Given the description of an element on the screen output the (x, y) to click on. 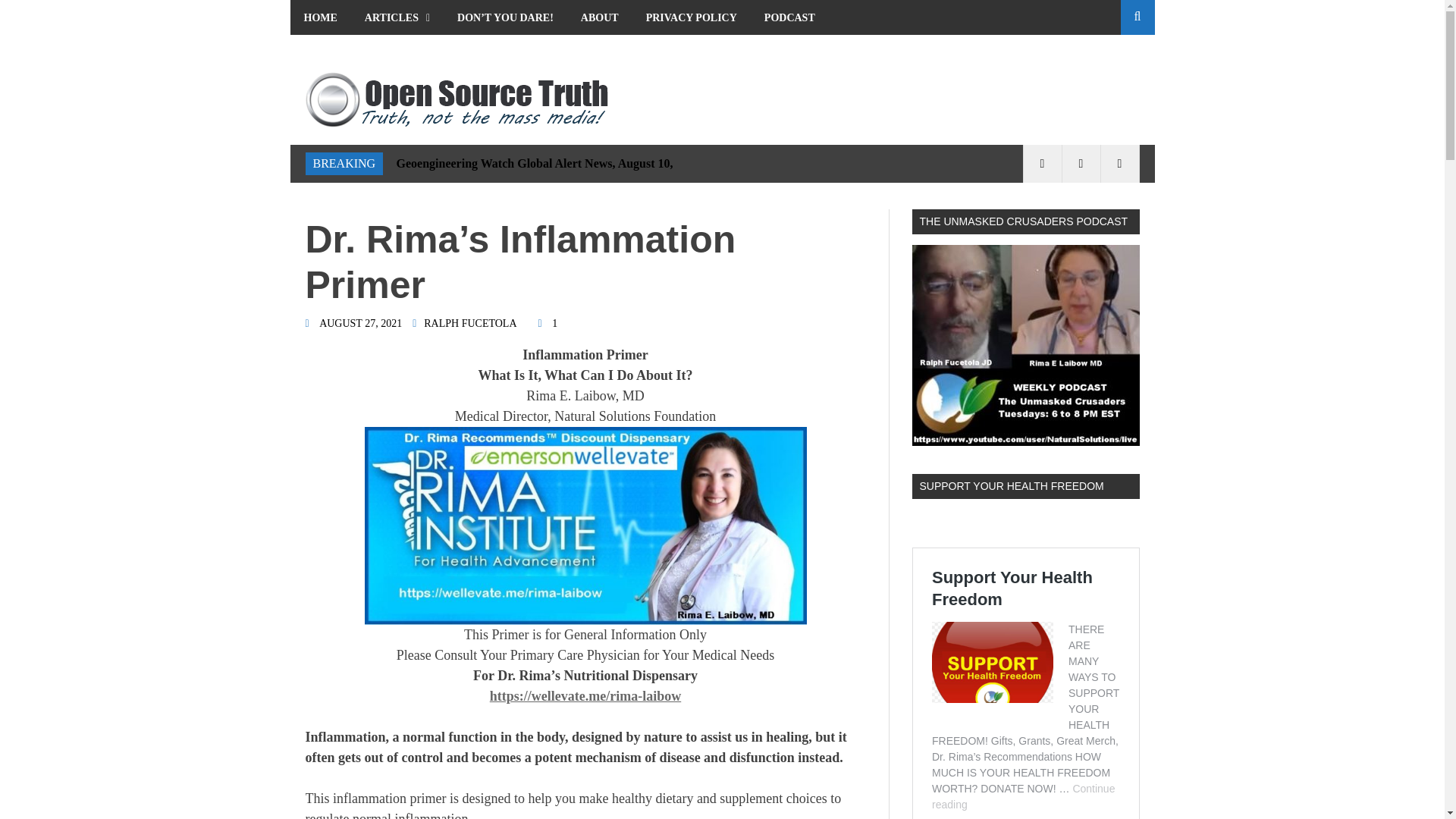
PODCAST (789, 17)
ARTICLES (397, 17)
PRIVACY POLICY (691, 17)
The Unmasked Crusaders Weekly Podcast (1024, 344)
MEMES (322, 52)
HOME (319, 17)
ABOUT (599, 17)
